Given the description of an element on the screen output the (x, y) to click on. 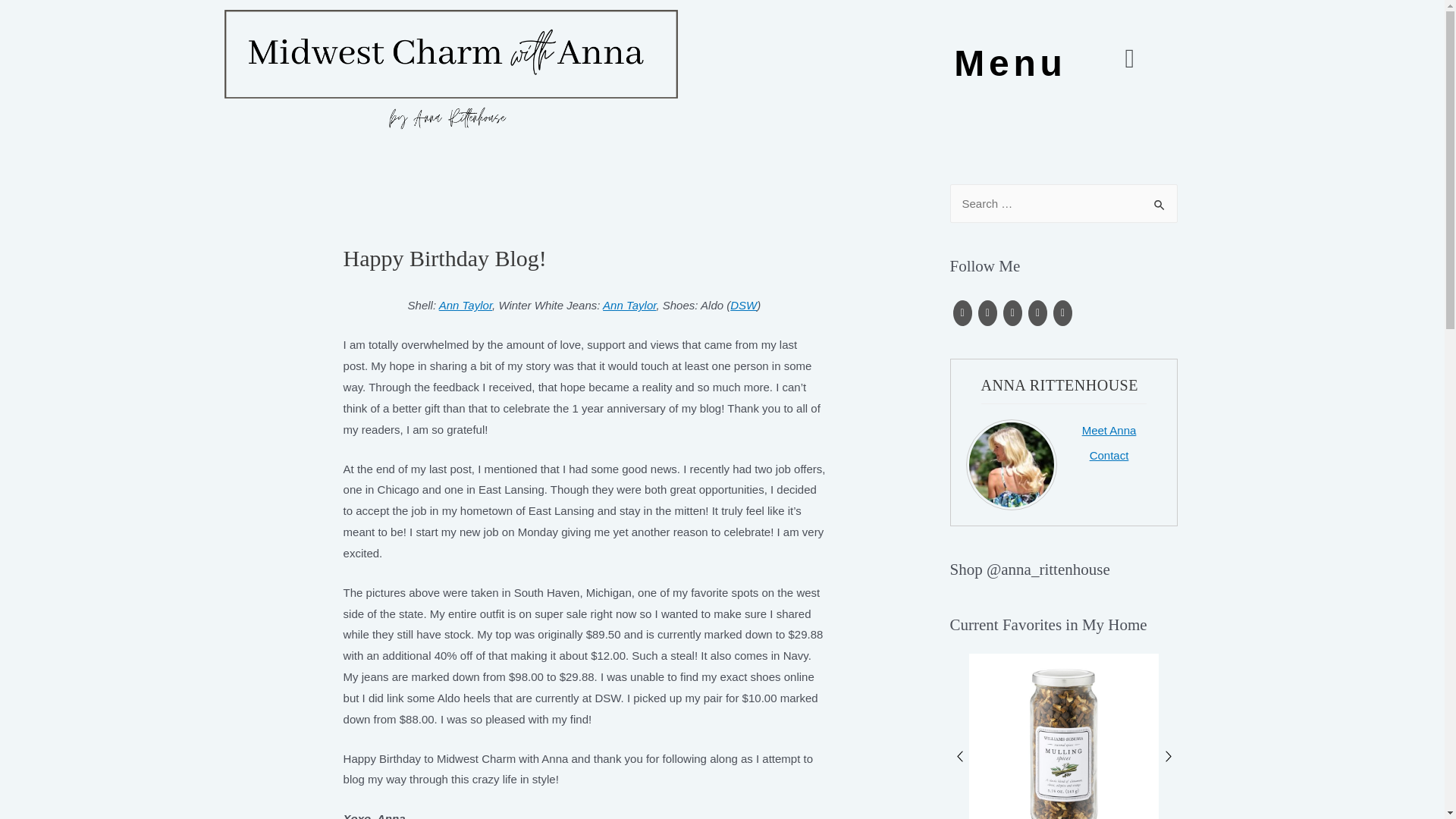
Search (1159, 199)
Ann Taylor (465, 305)
Search (1159, 199)
Search (1159, 199)
DSW (743, 305)
Ann Taylor (629, 305)
Contact (1109, 454)
Meet Anna (1109, 430)
